Given the description of an element on the screen output the (x, y) to click on. 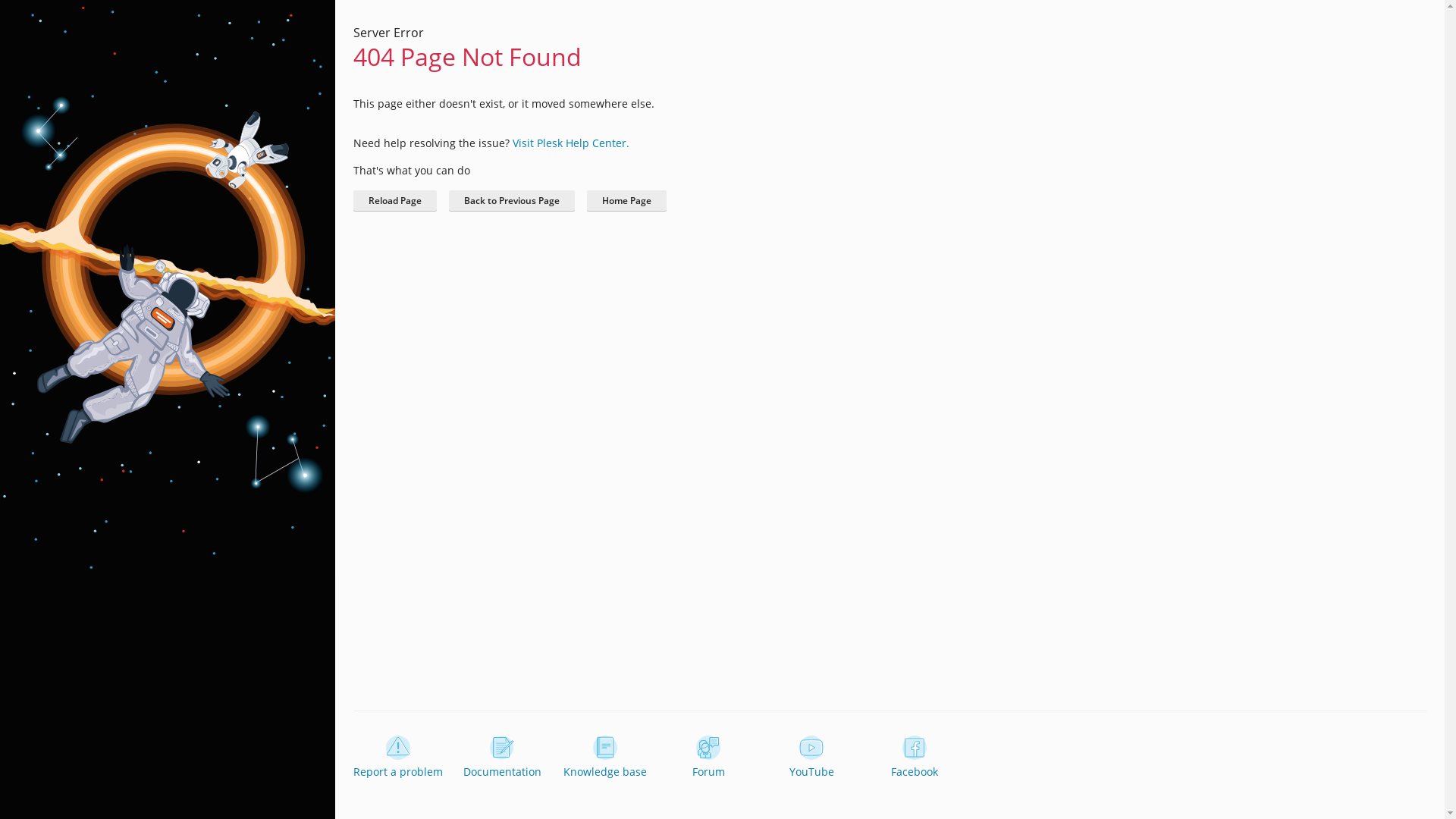
Report a problem Element type: text (397, 757)
Facebook Element type: text (914, 757)
Reload Page Element type: text (394, 200)
Forum Element type: text (708, 757)
Documentation Element type: text (502, 757)
Home Page Element type: text (626, 200)
Visit Plesk Help Center. Element type: text (570, 142)
Back to Previous Page Element type: text (511, 200)
Knowledge base Element type: text (605, 757)
YouTube Element type: text (811, 757)
